Given the description of an element on the screen output the (x, y) to click on. 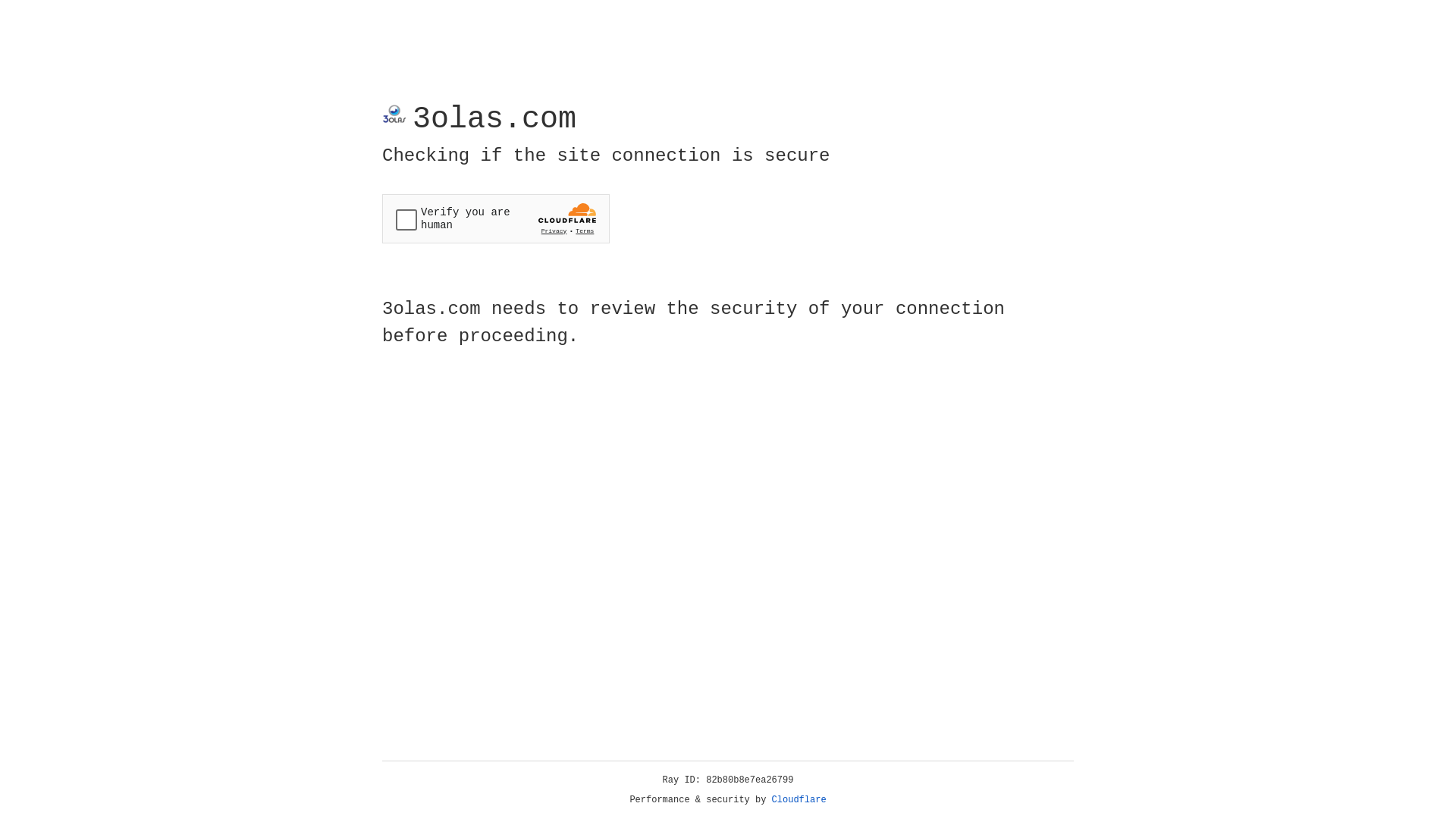
Widget containing a Cloudflare security challenge Element type: hover (495, 218)
Cloudflare Element type: text (798, 799)
